Given the description of an element on the screen output the (x, y) to click on. 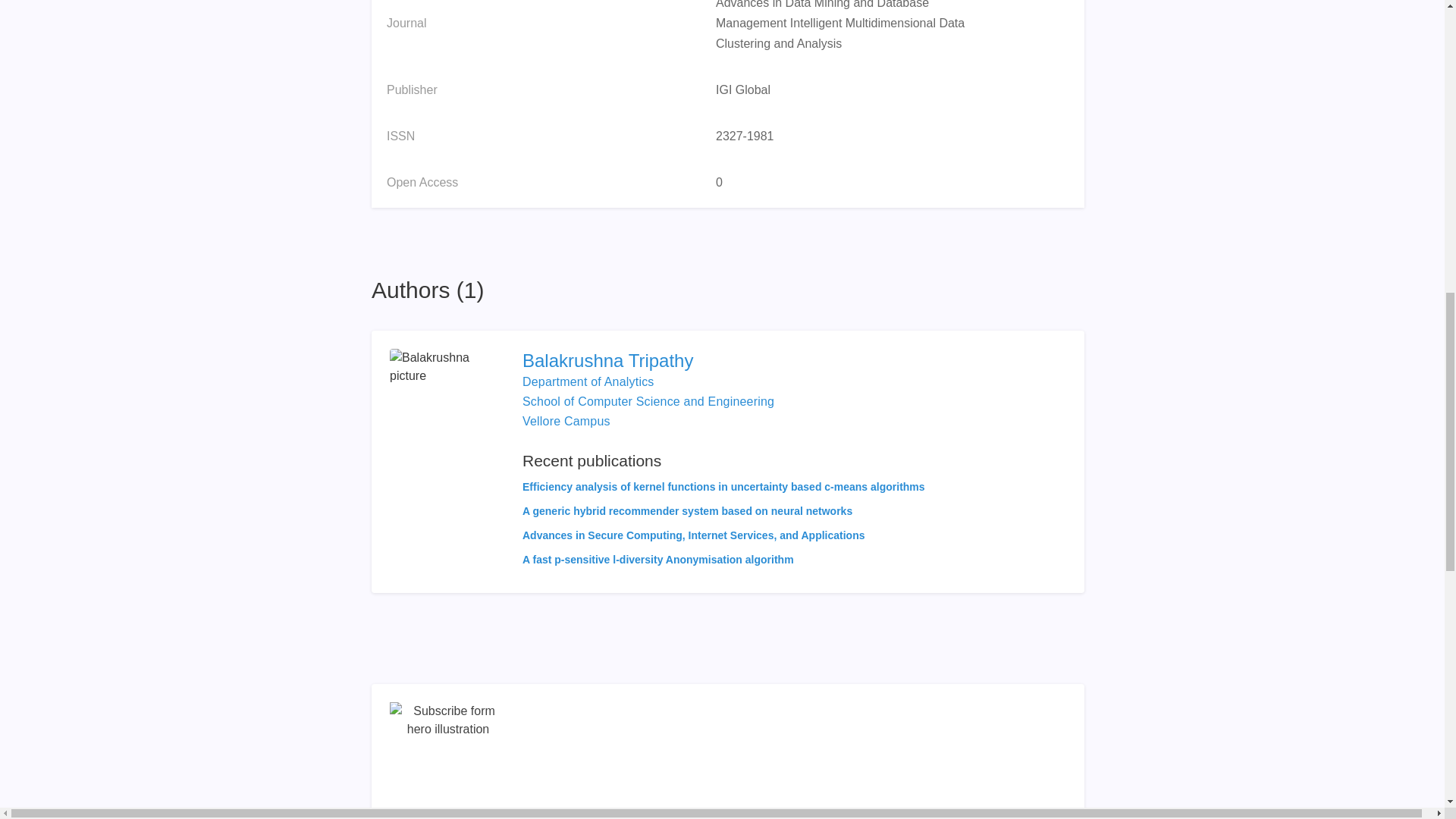
A fast p-sensitive l-diversity Anonymisation algorithm (657, 559)
Balakrushna Tripathy (723, 360)
Vellore Campus (566, 420)
Department of Analytics (587, 381)
A generic hybrid recommender system based on neural networks (686, 510)
Subscribe form hero illustration (448, 760)
School of Computer Science and Engineering (648, 400)
